Given the description of an element on the screen output the (x, y) to click on. 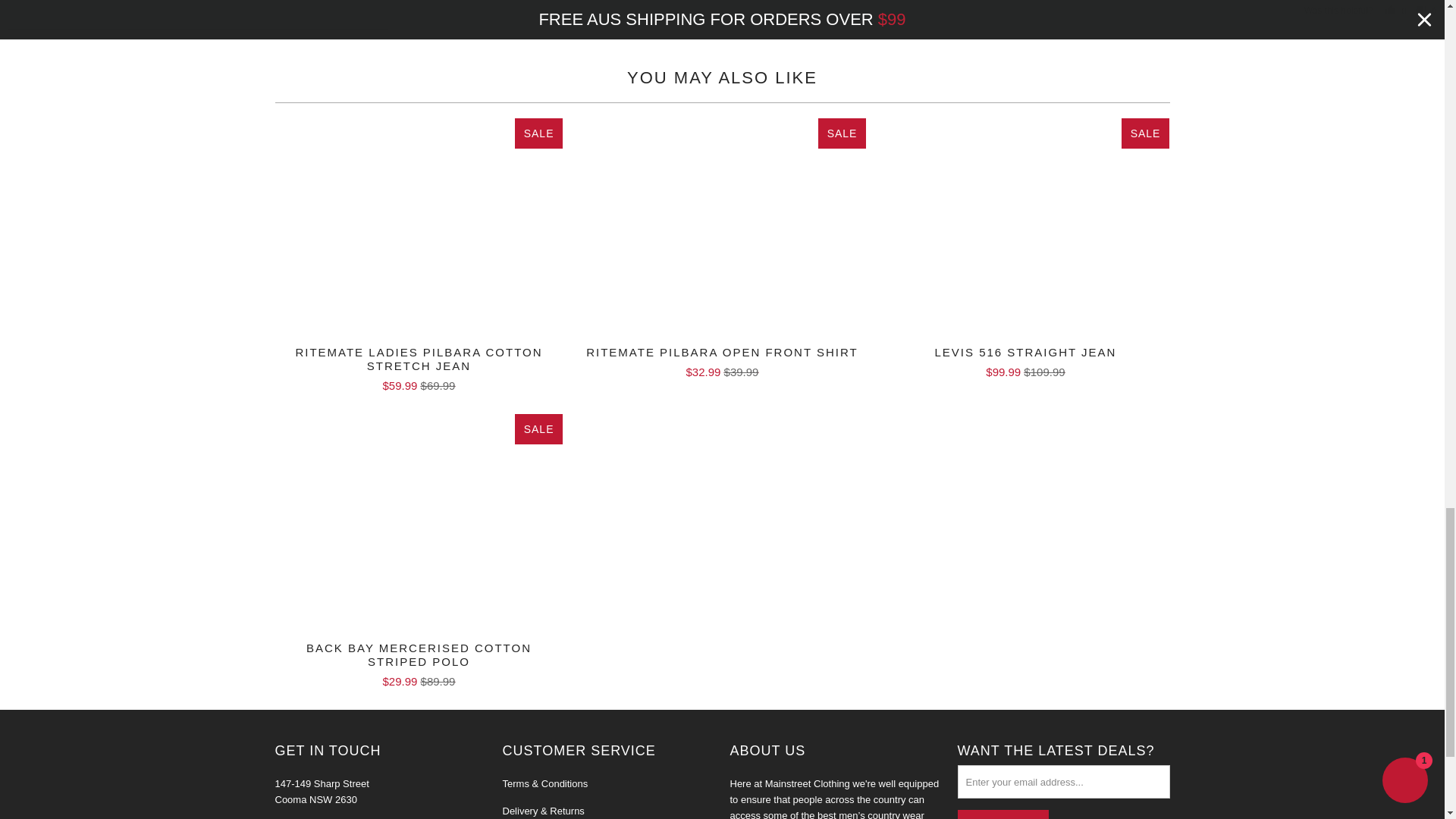
Sign Up (1002, 814)
